Given the description of an element on the screen output the (x, y) to click on. 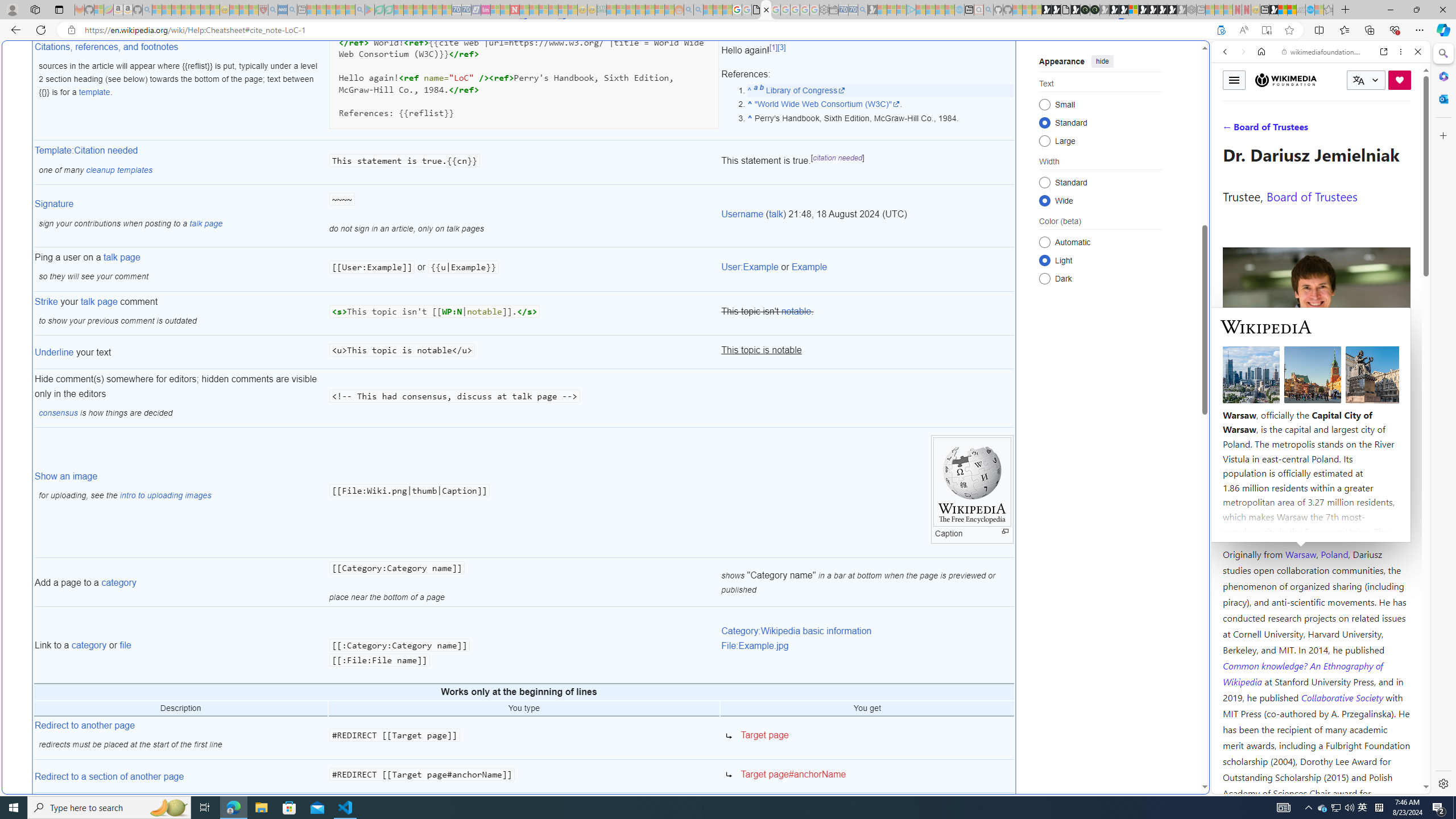
Donate now (1399, 80)
talk page (98, 301)
Common knowledge? An Ethnography of Wikipedia (1302, 672)
Wikimedia Foundation (1285, 79)
#REDIRECT [[Target page]] (523, 737)
File:Example.jpg (754, 645)
